Given the description of an element on the screen output the (x, y) to click on. 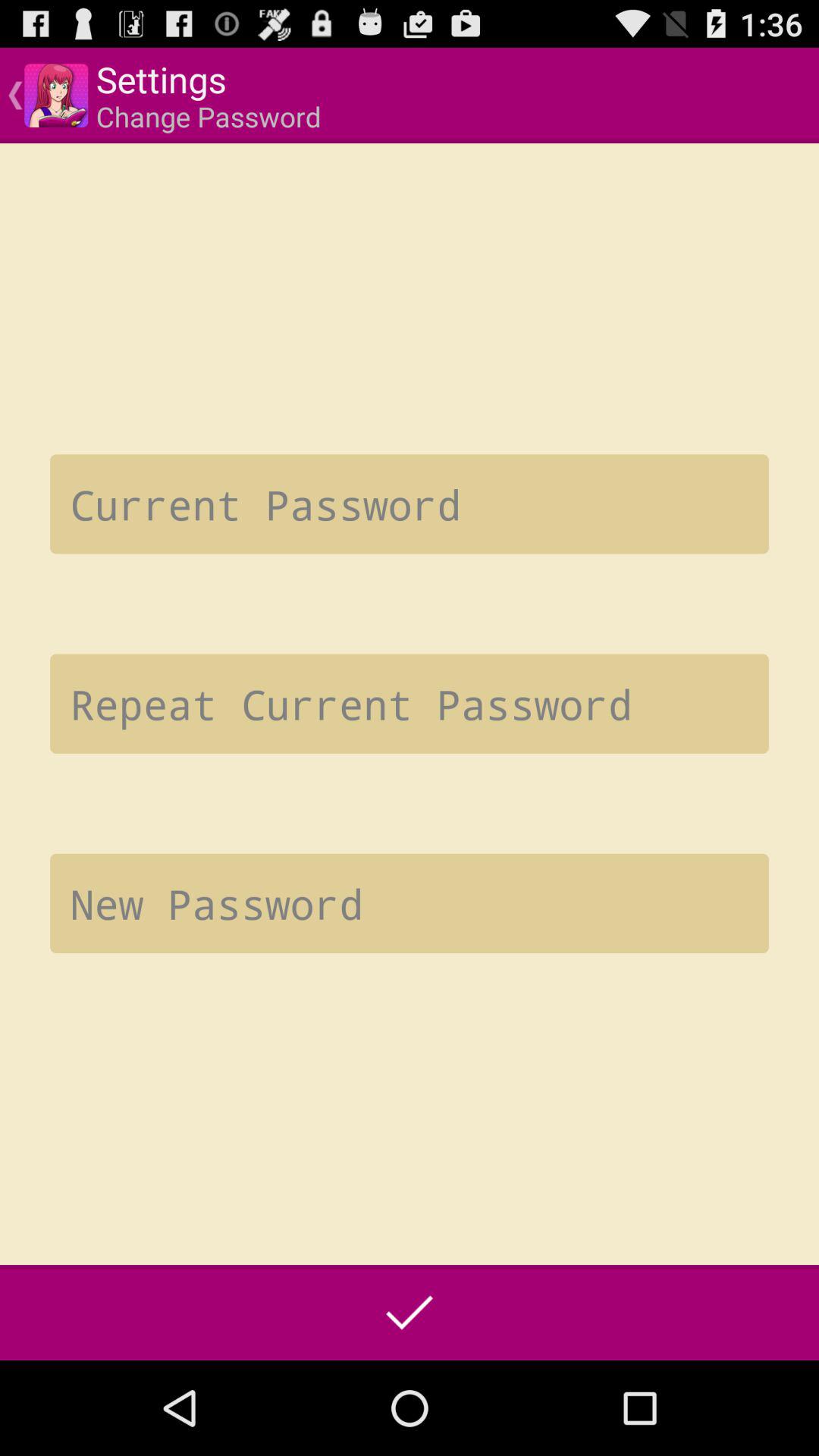
new password (409, 903)
